Given the description of an element on the screen output the (x, y) to click on. 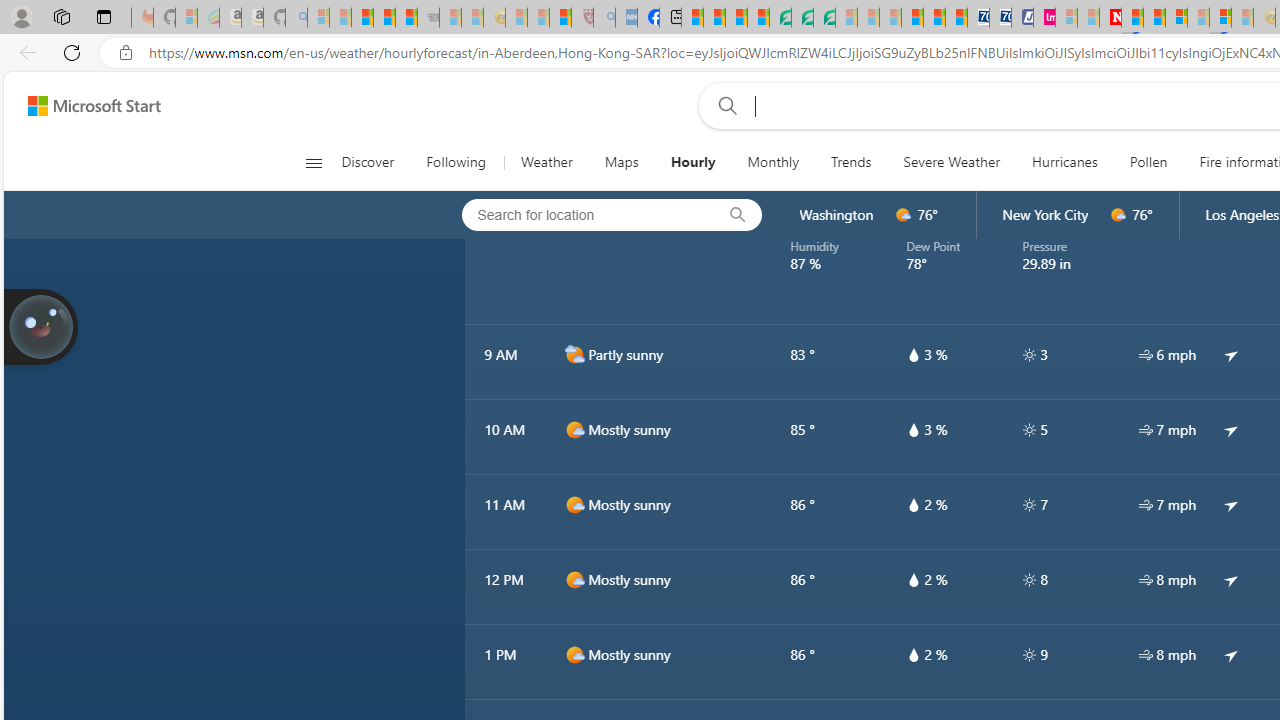
common/arrow (1231, 655)
Terms of Use Agreement (802, 17)
New Report Confirms 2023 Was Record Hot | Watch (406, 17)
Microsoft Word - consumer-privacy address update 2.2021 (824, 17)
Severe Weather (952, 162)
Latest Politics News & Archive | Newsweek.com (1110, 17)
d1000 (574, 655)
